Given the description of an element on the screen output the (x, y) to click on. 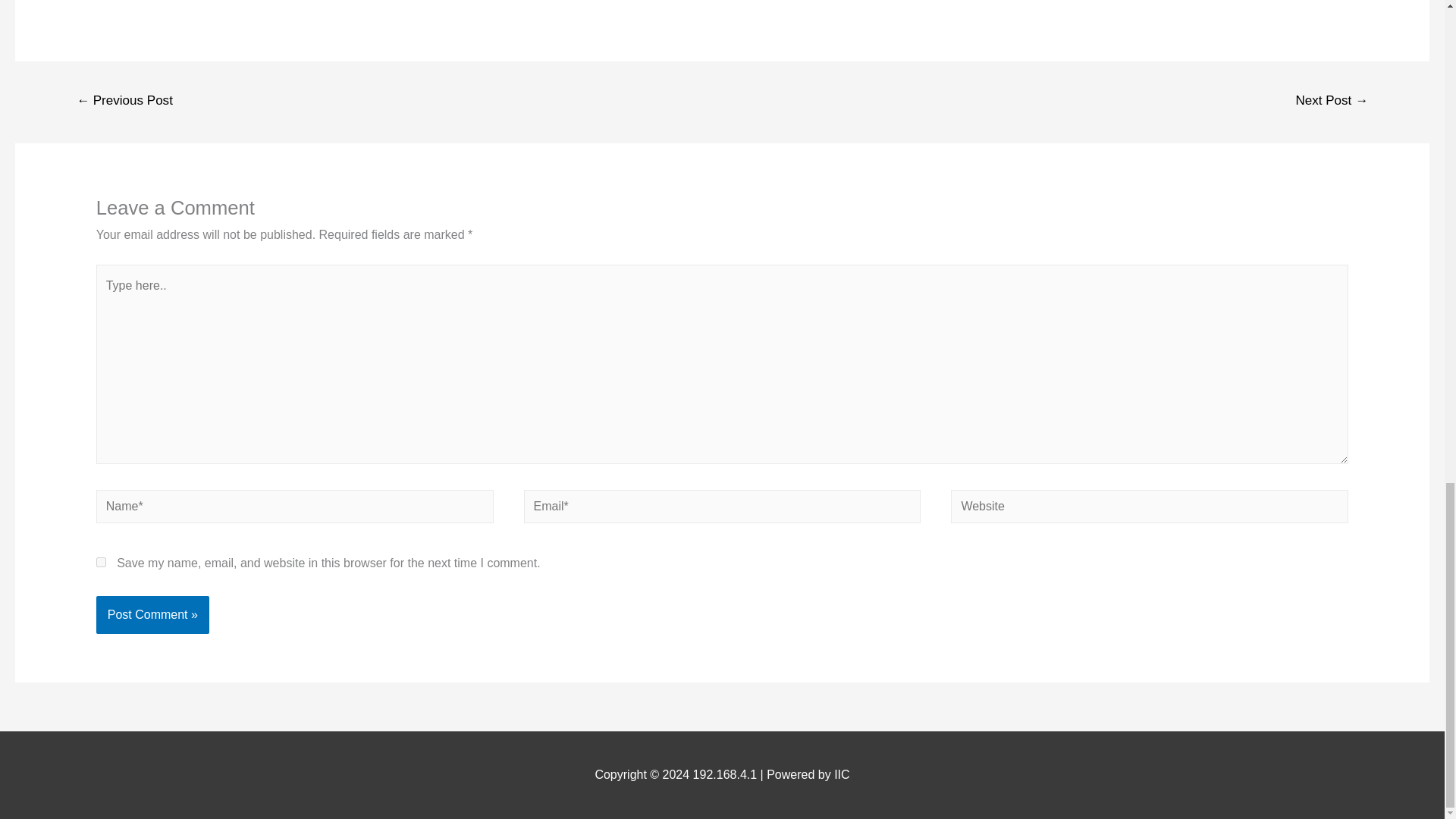
yes (101, 562)
